Given the description of an element on the screen output the (x, y) to click on. 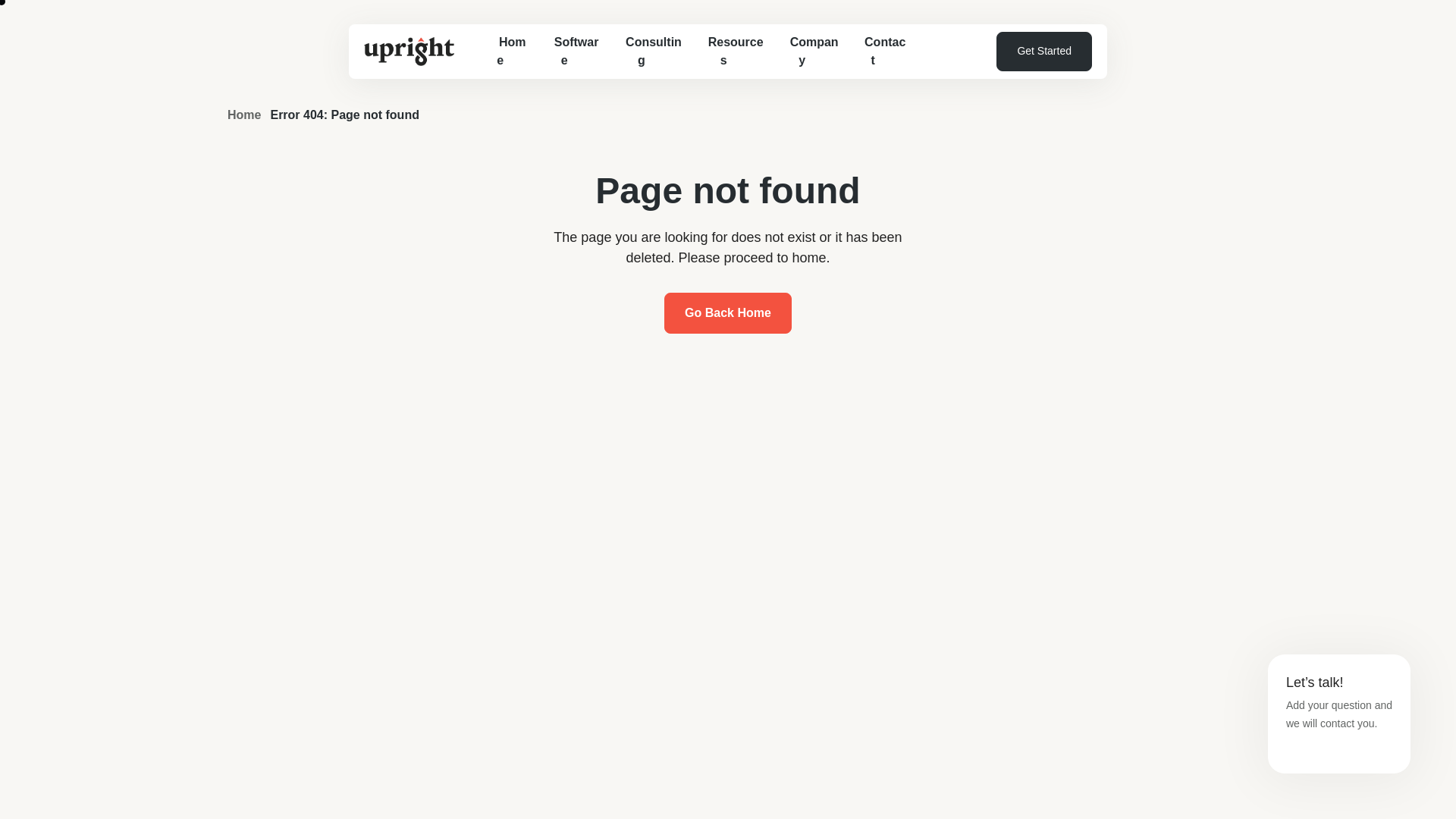
Consulting (642, 54)
Resources (723, 53)
Get Started (1043, 51)
Company (807, 50)
Home (243, 114)
Home (499, 64)
Software (563, 62)
Go Back Home (727, 312)
Contact (878, 50)
